Given the description of an element on the screen output the (x, y) to click on. 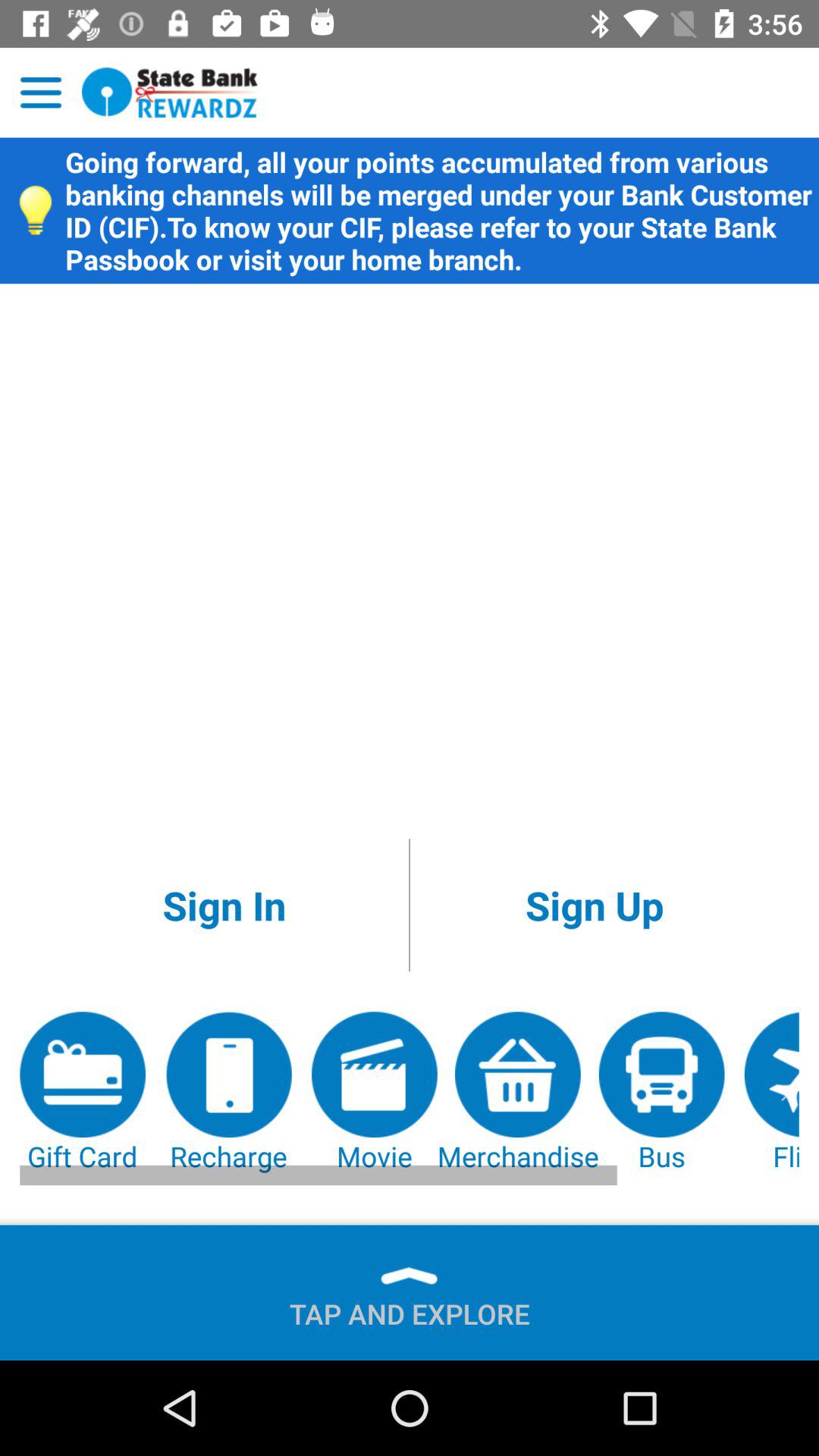
open menu (40, 92)
